Given the description of an element on the screen output the (x, y) to click on. 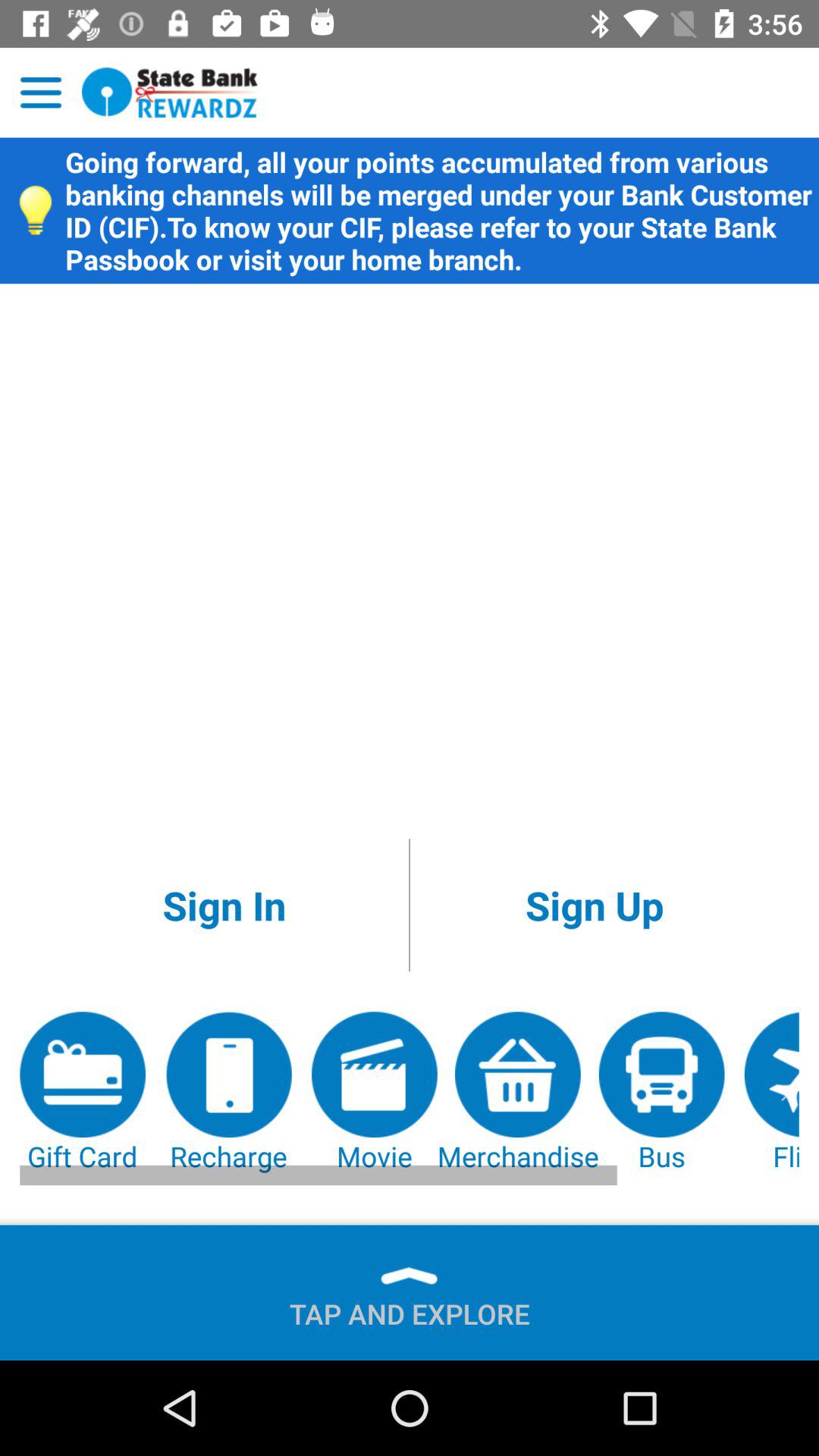
open menu (40, 92)
